Given the description of an element on the screen output the (x, y) to click on. 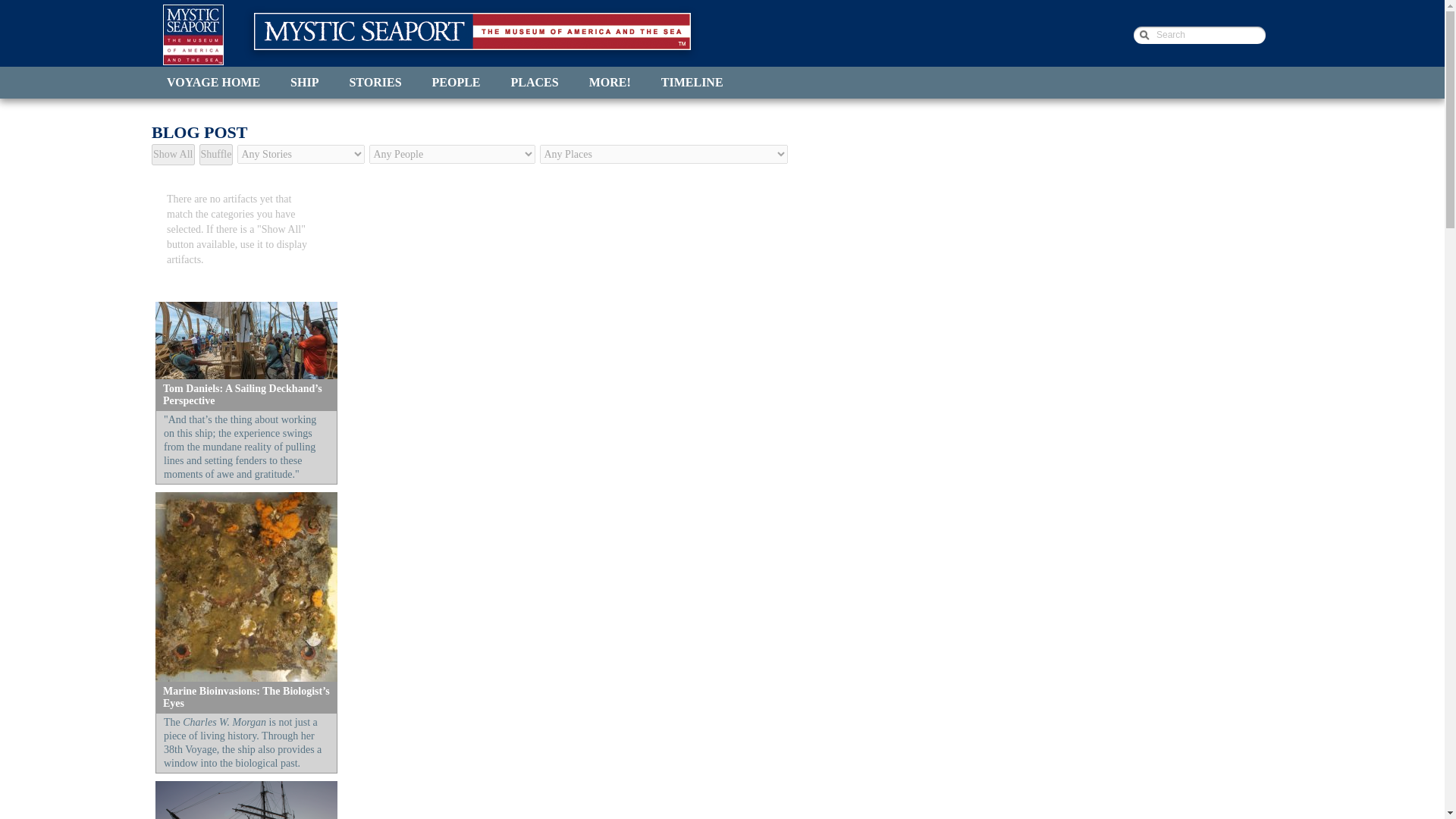
PEOPLE (456, 82)
Show All (173, 154)
TIMELINE (692, 82)
Shuffle (215, 154)
MORE! (609, 82)
SHIP (304, 82)
The 38th Voyage of the (471, 31)
VOYAGE HOME (213, 82)
STORIES (374, 82)
